Given the description of an element on the screen output the (x, y) to click on. 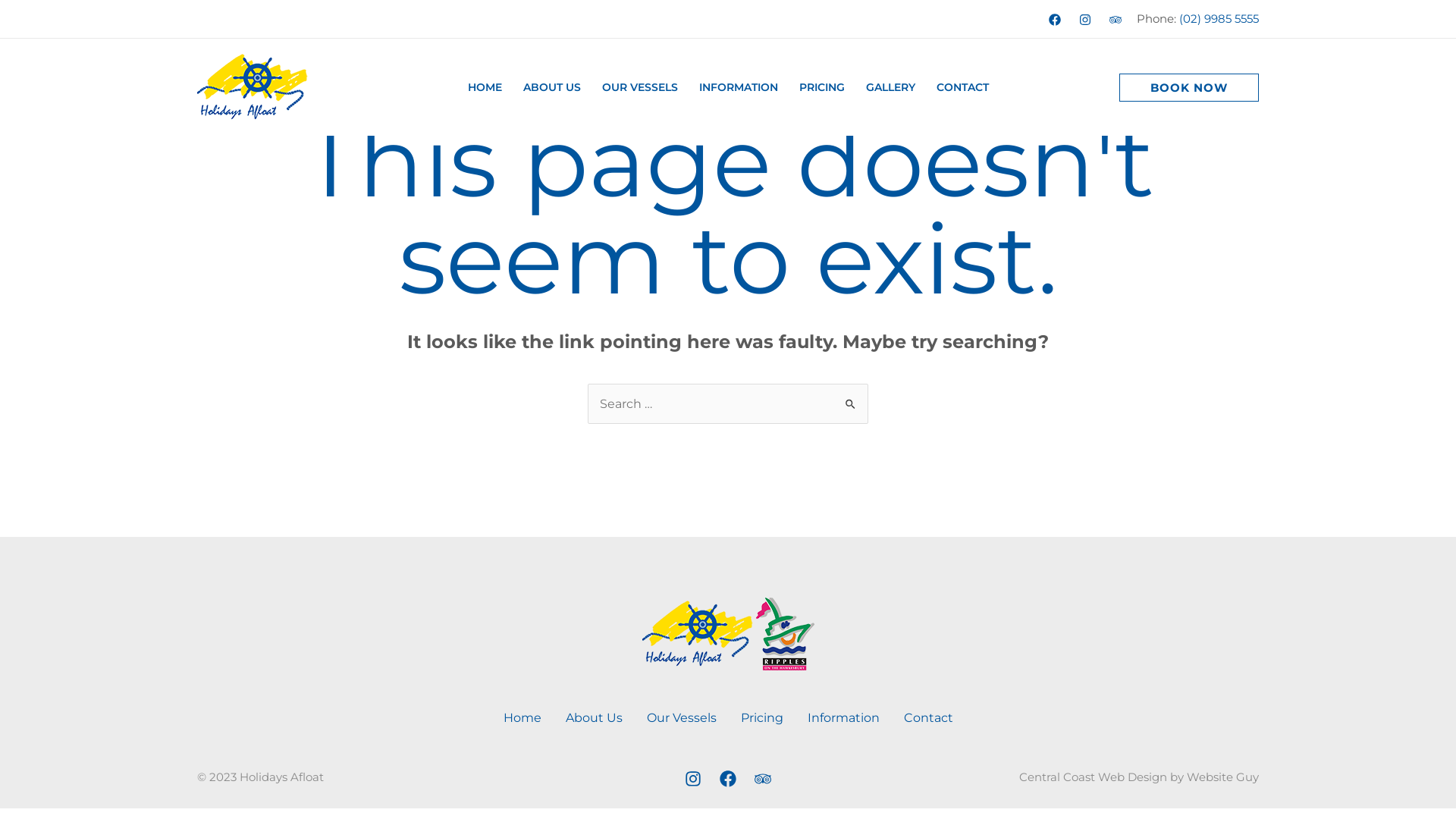
INFORMATION Element type: text (738, 86)
Contact Element type: text (928, 717)
BOOK NOW Element type: text (1188, 86)
Our Vessels Element type: text (680, 717)
Information Element type: text (842, 717)
About Us Element type: text (593, 717)
Home Element type: text (522, 717)
GALLERY Element type: text (890, 86)
PRICING Element type: text (821, 86)
Search Element type: text (851, 398)
ABOUT US Element type: text (551, 86)
Pricing Element type: text (761, 717)
HOME Element type: text (483, 86)
(02) 9985 5555 Element type: text (1217, 18)
OUR VESSELS Element type: text (639, 86)
CONTACT Element type: text (961, 86)
